Given the description of an element on the screen output the (x, y) to click on. 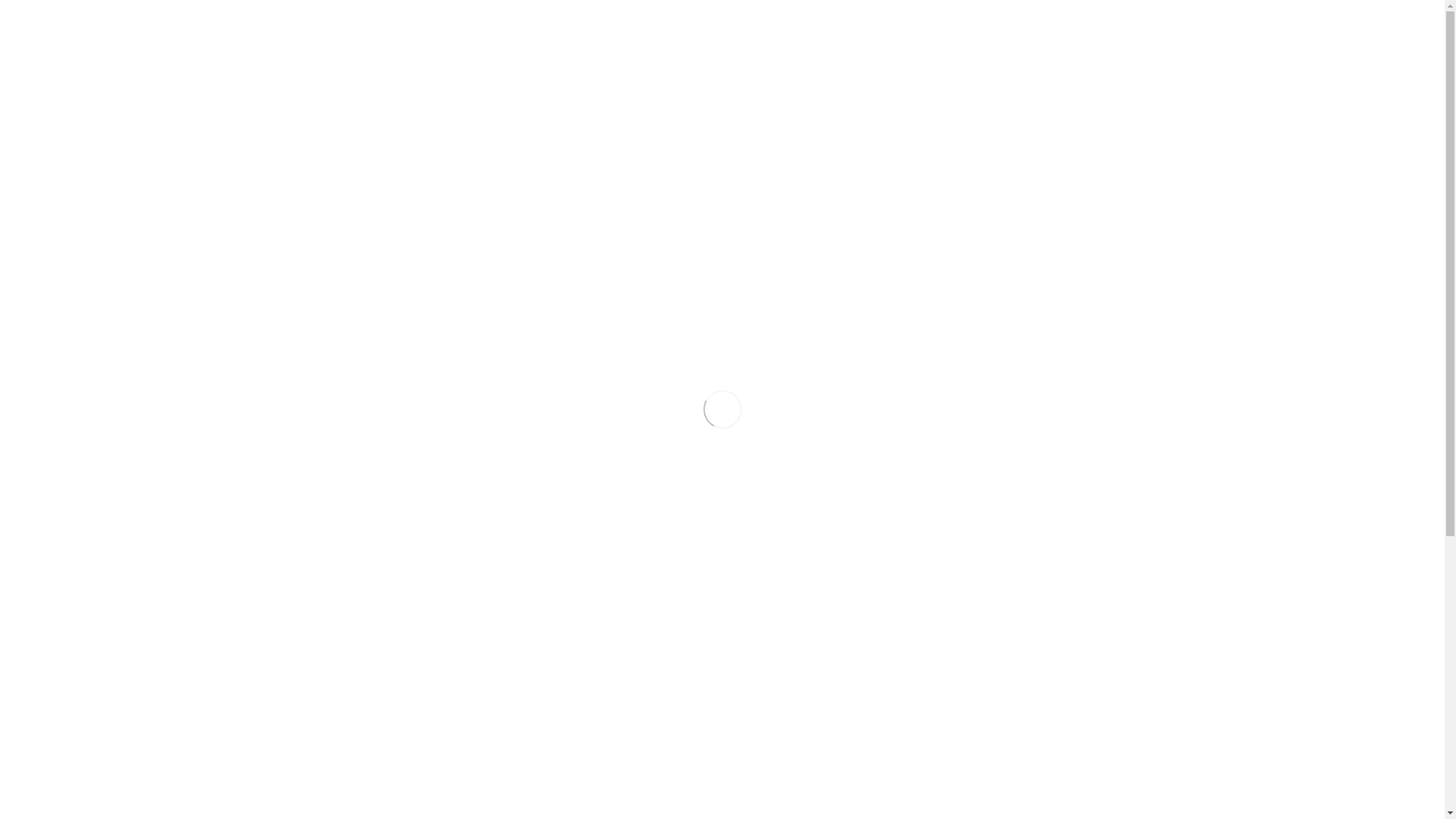
CONTACT Element type: text (780, 40)
ABOUT Element type: text (677, 40)
FR Element type: text (1049, 38)
SWEATSHIRTS & HOODIES Element type: text (383, 676)
LES ESSENTIELS DE L'HIVER Element type: text (383, 298)
Boutique Element type: text (1010, 117)
HOME Element type: text (428, 40)
CARDIGANS & GILLETS Element type: text (383, 419)
E-SHOP Element type: text (887, 40)
SHORTS Element type: text (383, 636)
ROBES Element type: text (383, 617)
MAILLOT DE BAIN Element type: text (383, 538)
SHORTS DE BAIN Element type: text (383, 656)
KIMONO Element type: text (383, 518)
GILLETS Element type: text (383, 479)
TOPS Element type: text (383, 715)
BIJOUX Element type: text (383, 765)
T-SHIRTS Element type: text (383, 696)
ACCESSOIRES Element type: text (383, 790)
VESTES & MANTEAUX Element type: text (383, 735)
0 Element type: text (1000, 37)
CHEMISIERS Element type: text (383, 459)
SOLDES Element type: text (383, 323)
PULLOVER Element type: text (383, 597)
JUPES Element type: text (383, 498)
Instagram Element type: hover (1141, 37)
MAXI DRESS Element type: text (383, 557)
GET INSPIRED Element type: text (551, 40)
CHEMISES Element type: text (383, 439)
facebook Element type: hover (1113, 37)
PANTALONS Element type: text (383, 577)
